Given the description of an element on the screen output the (x, y) to click on. 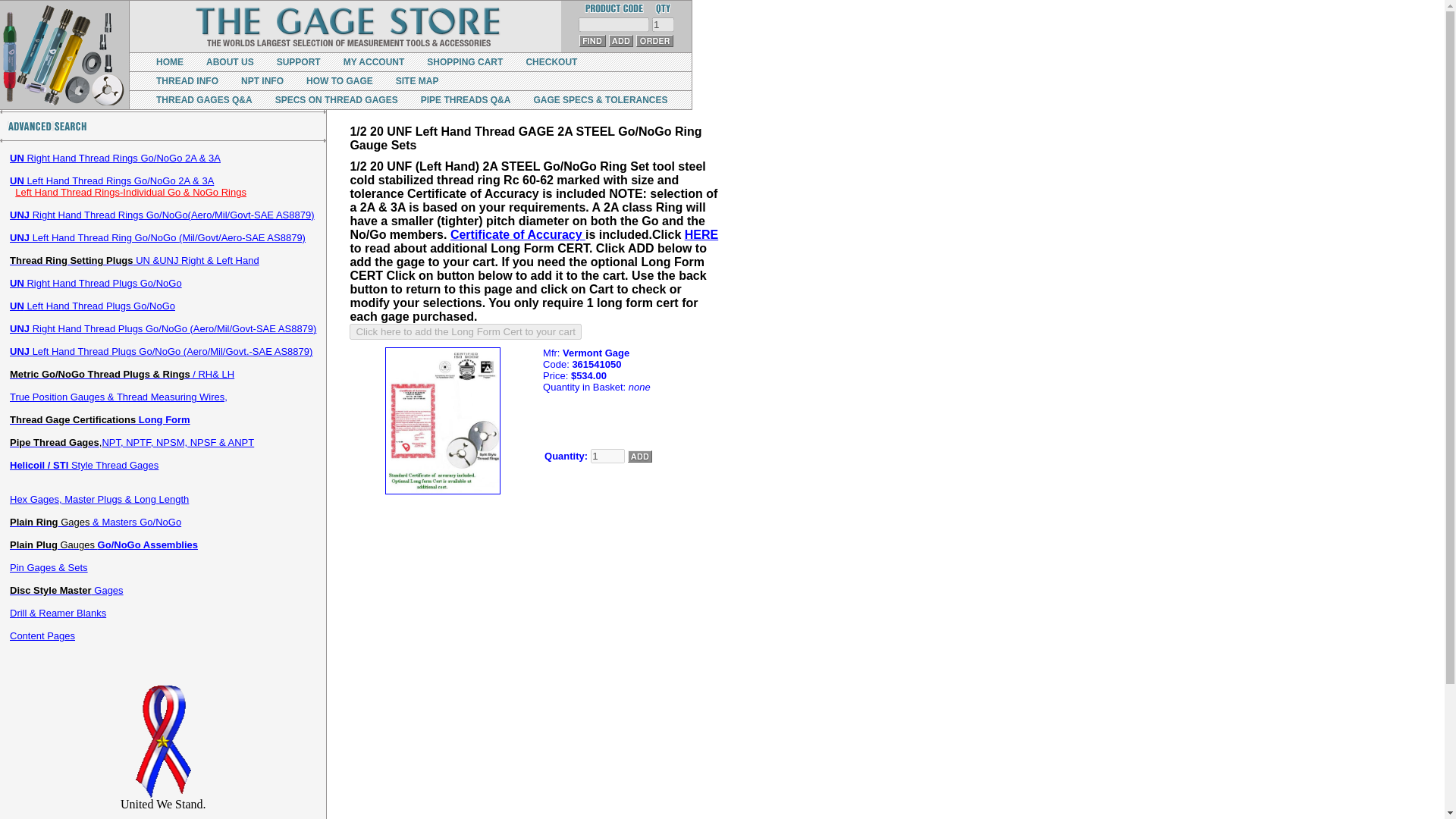
ABOUT US (229, 61)
Order (654, 40)
Add (620, 40)
NPT INFO (262, 81)
SPECS ON THREAD GAGES (336, 100)
CHECKOUT (550, 61)
THREAD INFO (186, 81)
Find (592, 40)
SUPPORT (298, 61)
1 (663, 24)
HOW TO GAGE (338, 81)
SHOPPING CART (464, 61)
Thread Gage Certifications Long Form (100, 419)
HOME (169, 61)
1 (607, 455)
